Given the description of an element on the screen output the (x, y) to click on. 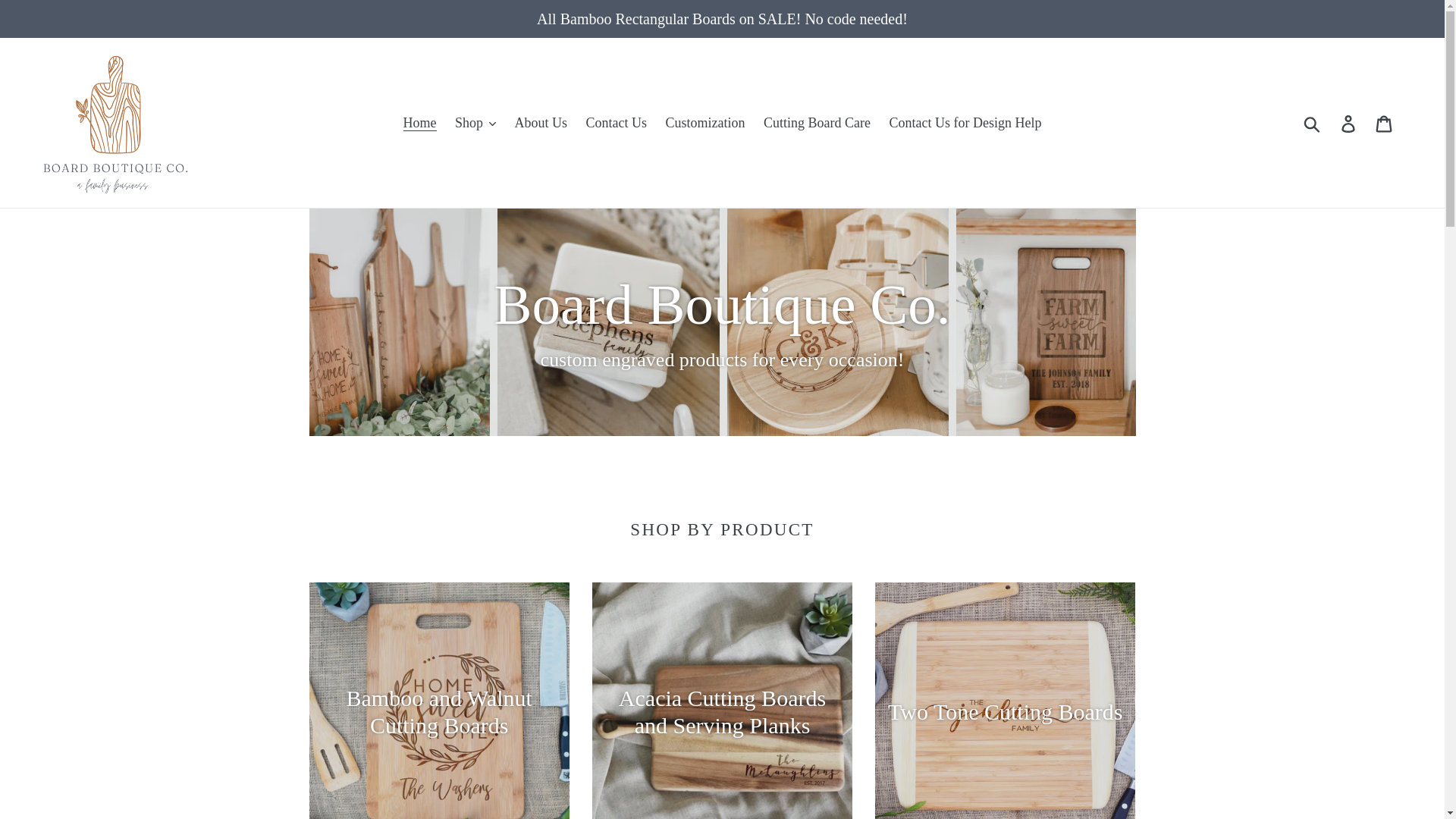
About Us (540, 122)
Contact Us (616, 122)
Log in (1349, 122)
Submit (1313, 122)
Cutting Board Care (816, 122)
Home (420, 122)
Cart (1385, 122)
Customization (705, 122)
Contact Us for Design Help (965, 122)
